Given the description of an element on the screen output the (x, y) to click on. 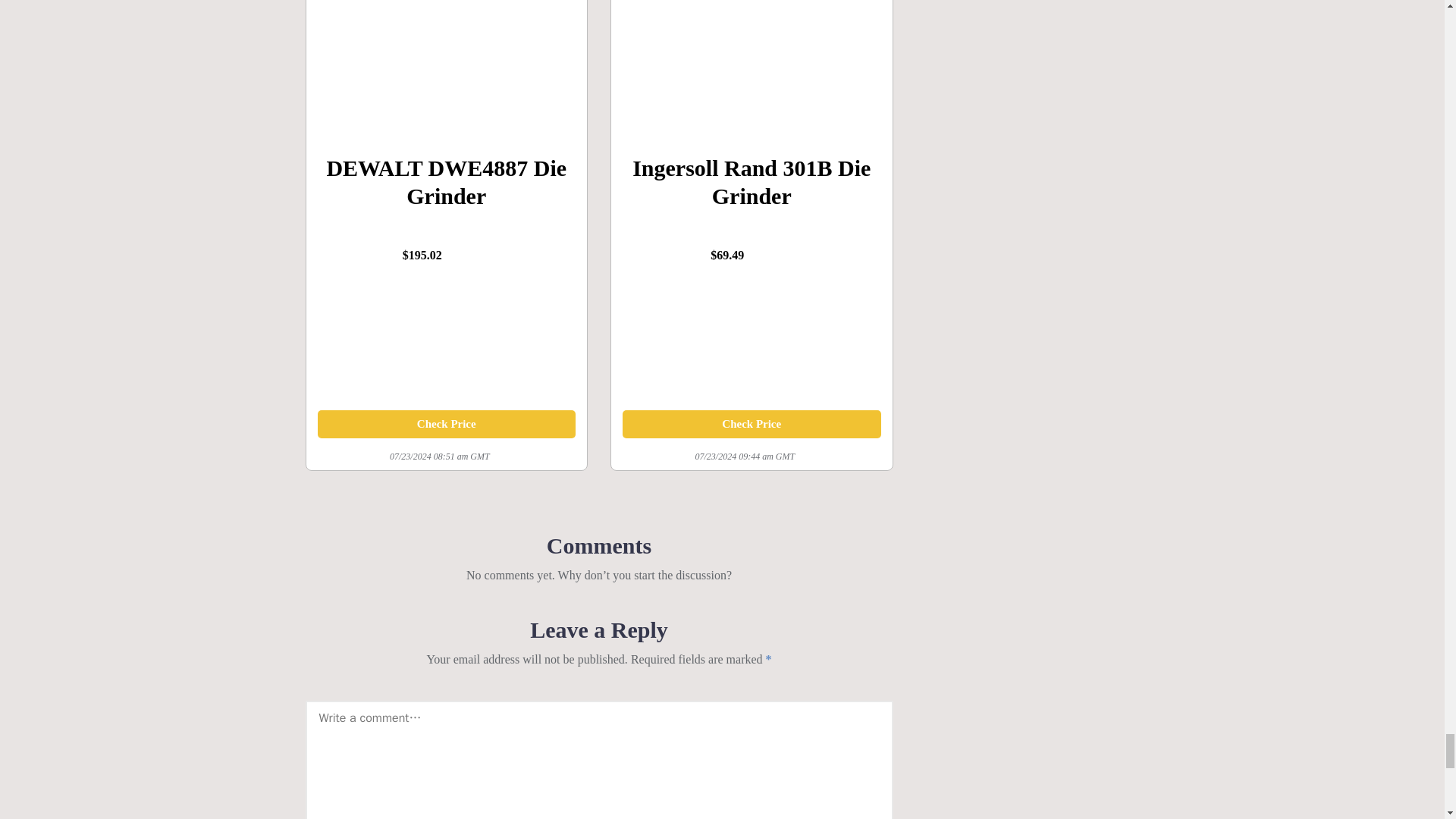
Ingersoll Rand 301B Die Grinder (751, 195)
Ingersoll Rand 301B Die Grinder (751, 423)
DEWALT DWE4887 Die Grinder (446, 423)
DEWALT DWE4887 Die Grinder (446, 9)
Ingersoll Rand 301B Die Grinder (751, 9)
DEWALT DWE4887 Die Grinder (446, 195)
